Given the description of an element on the screen output the (x, y) to click on. 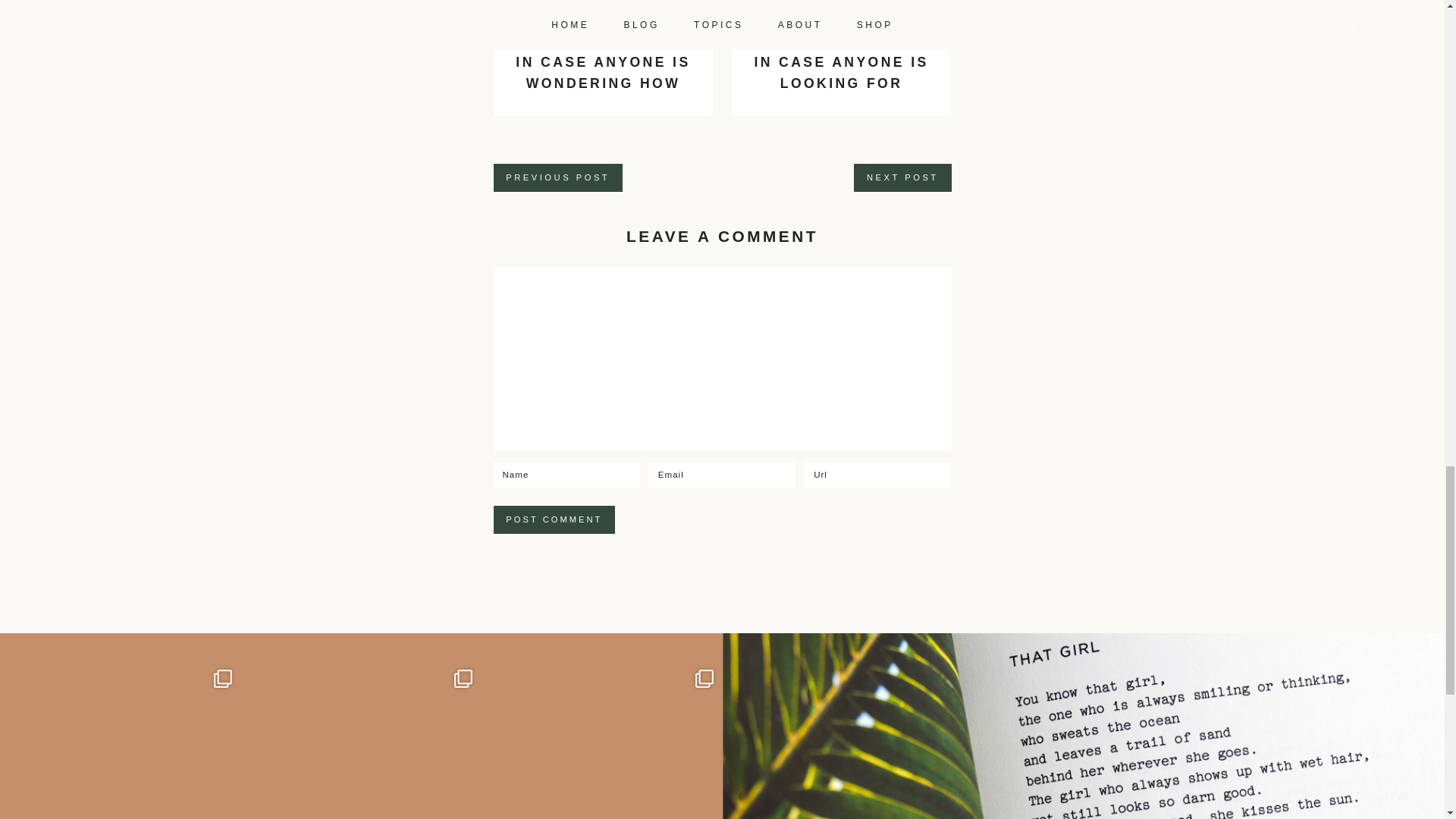
In case anyone is wondering how (603, 17)
Post Comment (553, 519)
In case anyone is looking for (842, 17)
In case anyone is looking for (841, 72)
In case anyone is wondering how (602, 72)
